Given the description of an element on the screen output the (x, y) to click on. 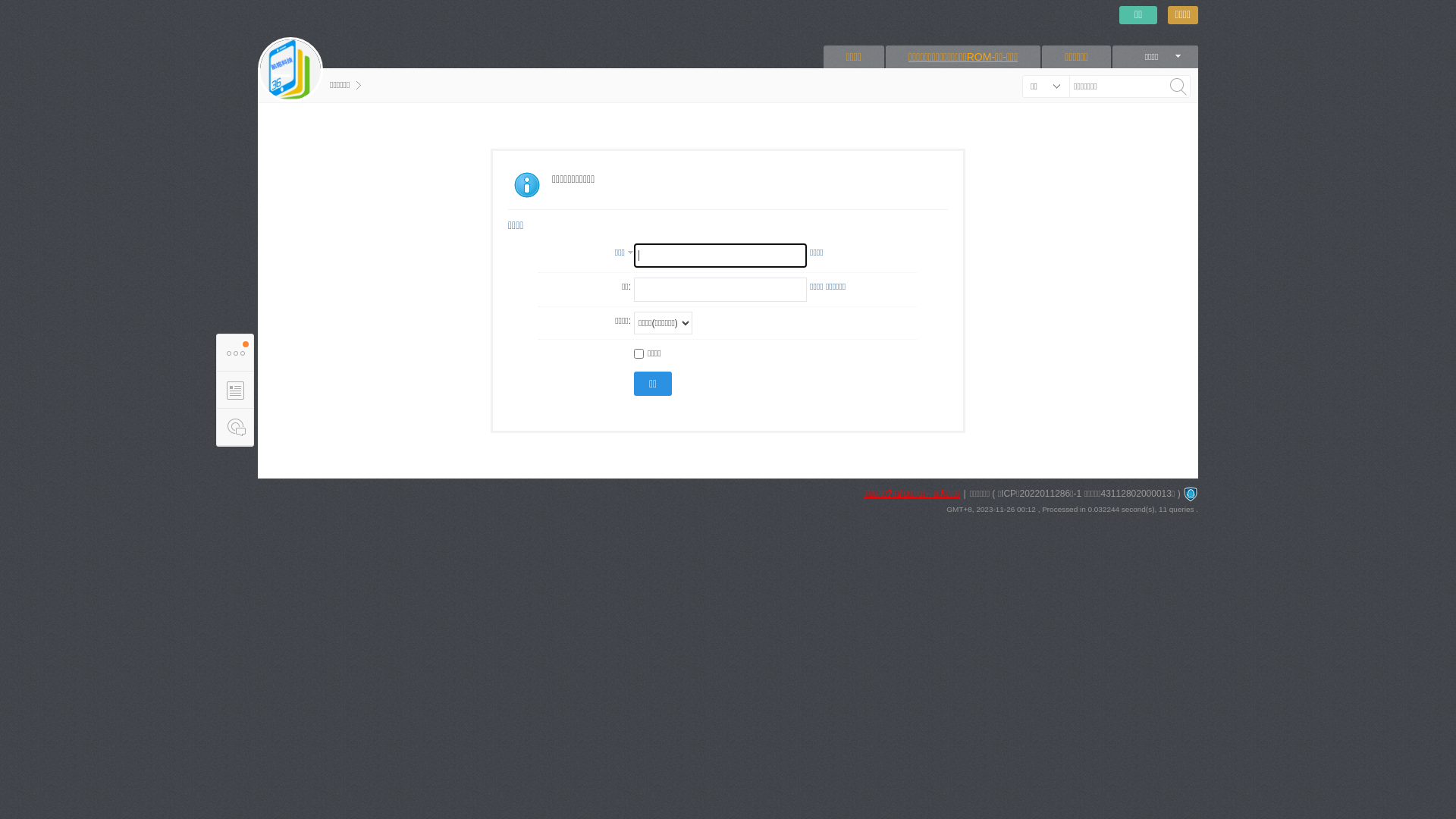
true Element type: text (1178, 86)
